Given the description of an element on the screen output the (x, y) to click on. 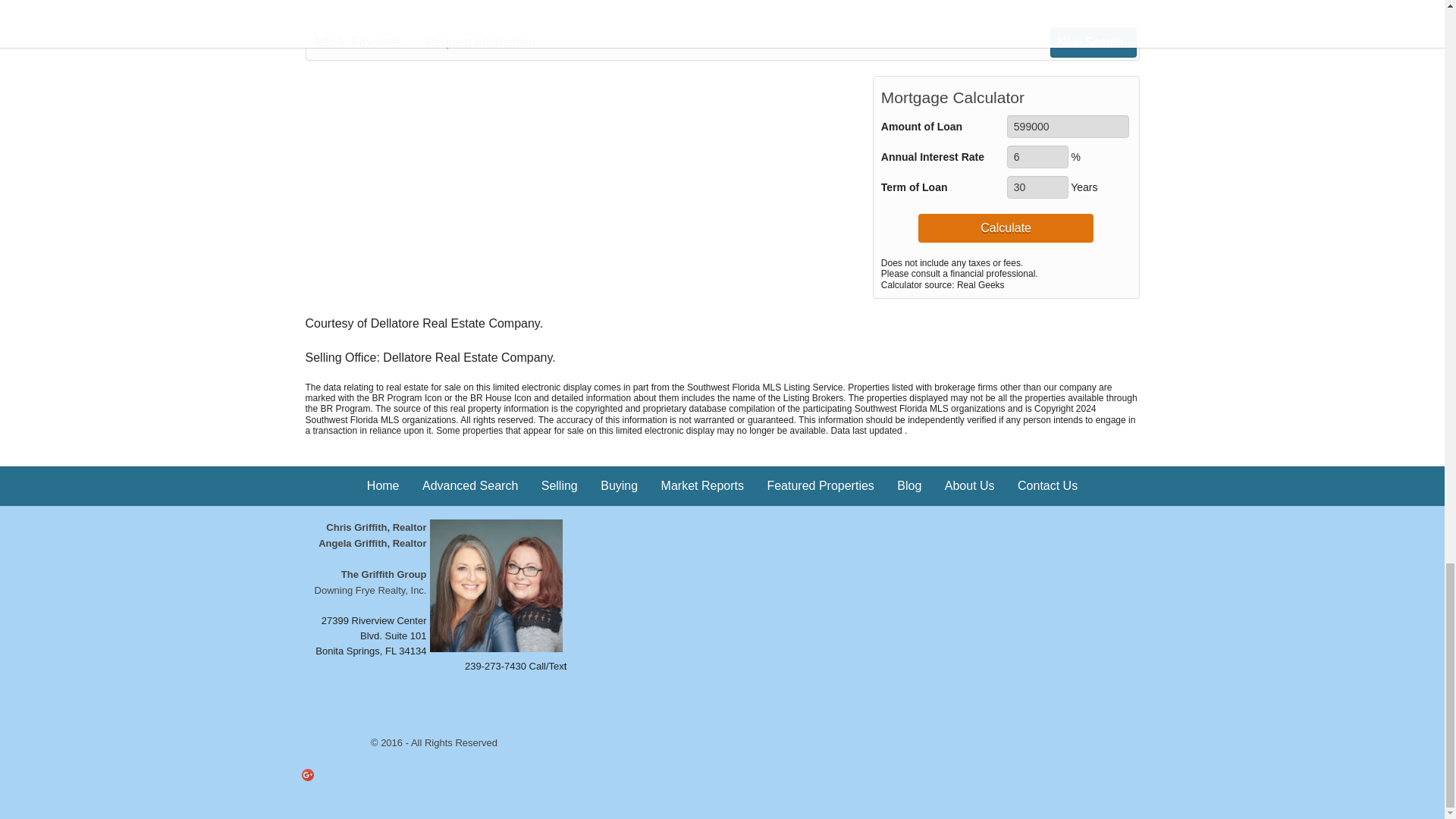
6 (1037, 156)
30 (1037, 187)
599000 (1068, 126)
